Given the description of an element on the screen output the (x, y) to click on. 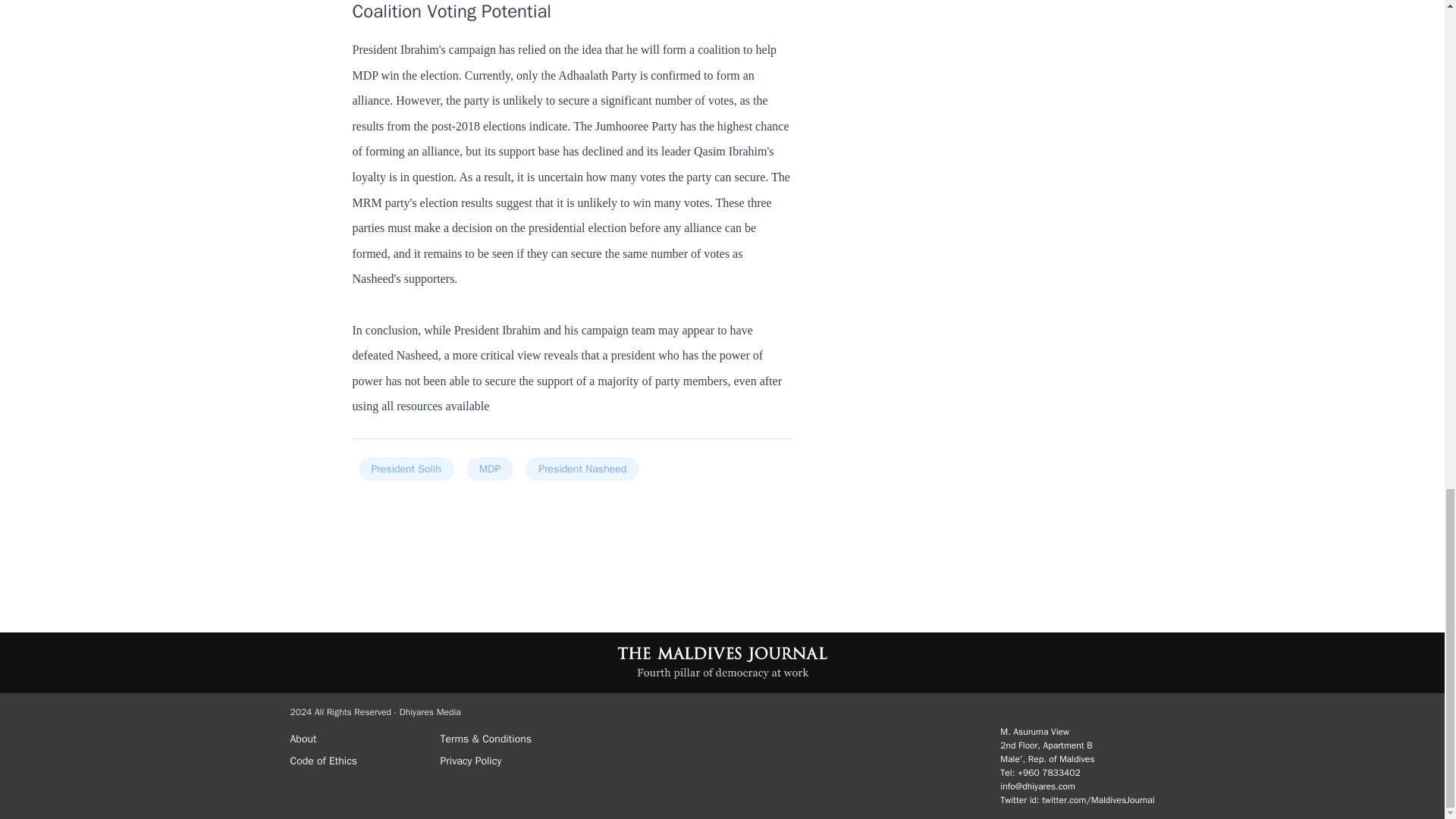
Privacy Policy (508, 757)
About (358, 735)
Code of Ethics (358, 757)
MDP (489, 468)
President Solih (405, 468)
President Nasheed (582, 468)
